Given the description of an element on the screen output the (x, y) to click on. 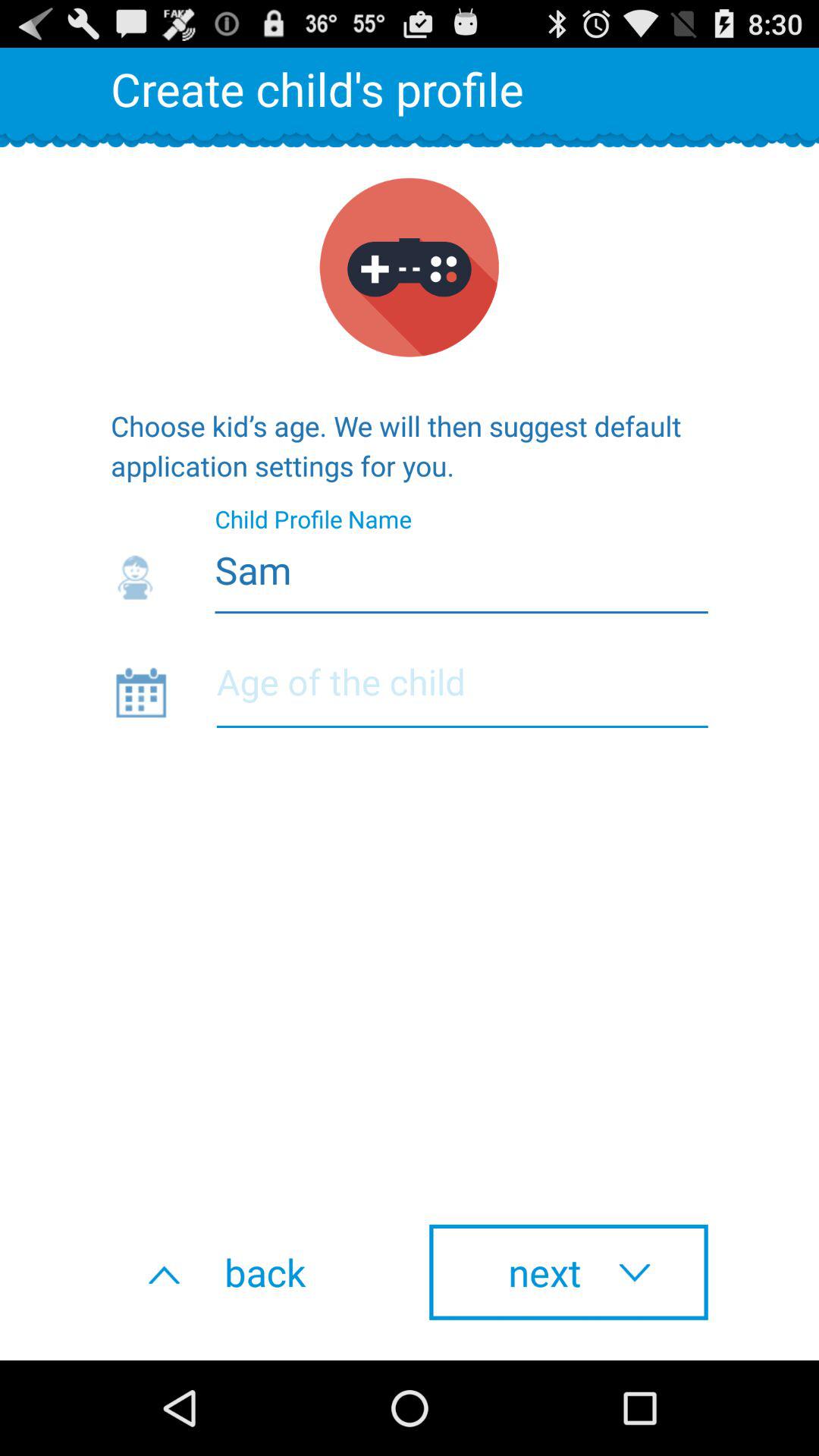
age of child (462, 691)
